Given the description of an element on the screen output the (x, y) to click on. 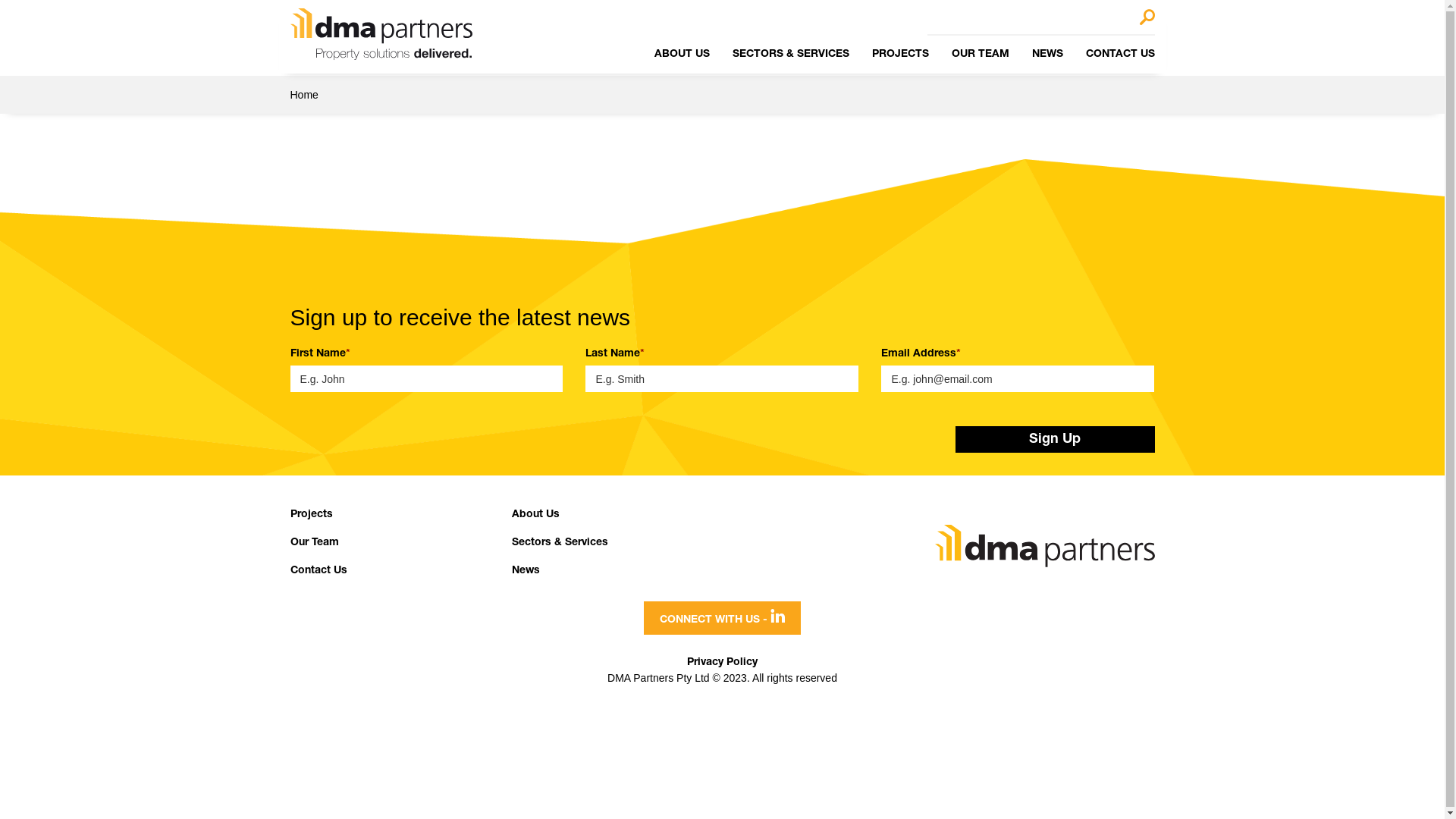
Our Team Element type: text (313, 542)
Projects Element type: text (310, 514)
Sign Up Element type: text (1054, 439)
Home Element type: text (303, 94)
NEWS Element type: text (1046, 54)
About Us Element type: text (535, 514)
PROJECTS Element type: text (900, 54)
ABOUT US Element type: text (681, 54)
OUR TEAM Element type: text (979, 54)
CONTACT US Element type: text (1119, 54)
Sectors & Services Element type: text (559, 542)
Privacy Policy Element type: text (722, 662)
SECTORS & SERVICES Element type: text (790, 54)
Contact Us Element type: text (317, 570)
News Element type: text (525, 570)
